Given the description of an element on the screen output the (x, y) to click on. 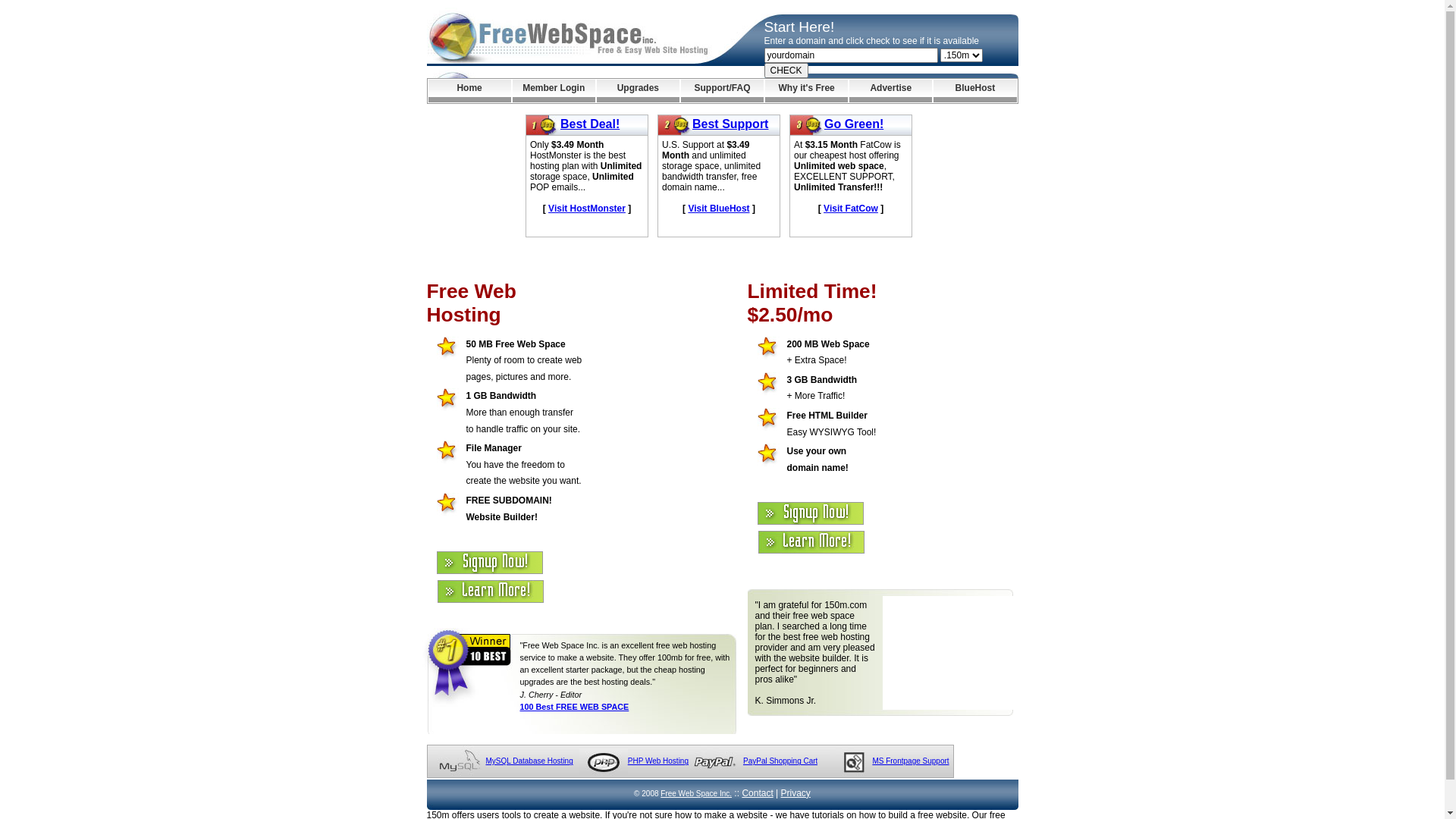
Support/FAQ Element type: text (721, 90)
Member Login Element type: text (553, 90)
PHP Web Hosting Element type: text (657, 760)
Contact Element type: text (756, 792)
Upgrades Element type: text (637, 90)
PayPal Shopping Cart Element type: text (780, 760)
Advertise Element type: text (890, 90)
Privacy Element type: text (795, 792)
100 Best FREE WEB SPACE Element type: text (574, 706)
MySQL Database Hosting Element type: text (528, 760)
MS Frontpage Support Element type: text (910, 760)
Why it's Free Element type: text (806, 90)
Home Element type: text (468, 90)
CHECK Element type: text (786, 70)
Free Web Space Inc. Element type: text (695, 793)
BlueHost Element type: text (974, 90)
